Given the description of an element on the screen output the (x, y) to click on. 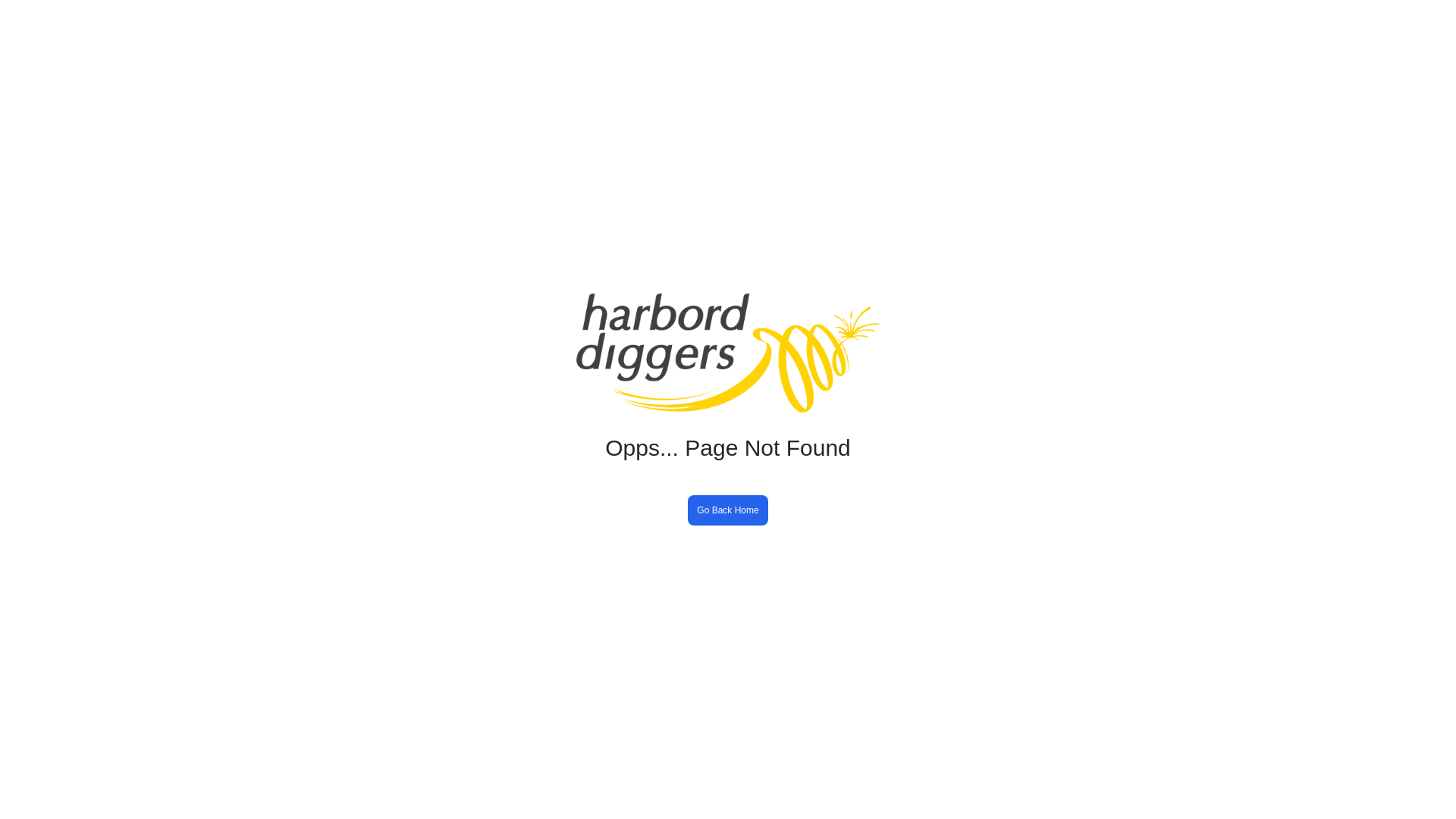
Go Back Home Element type: text (727, 510)
